Given the description of an element on the screen output the (x, y) to click on. 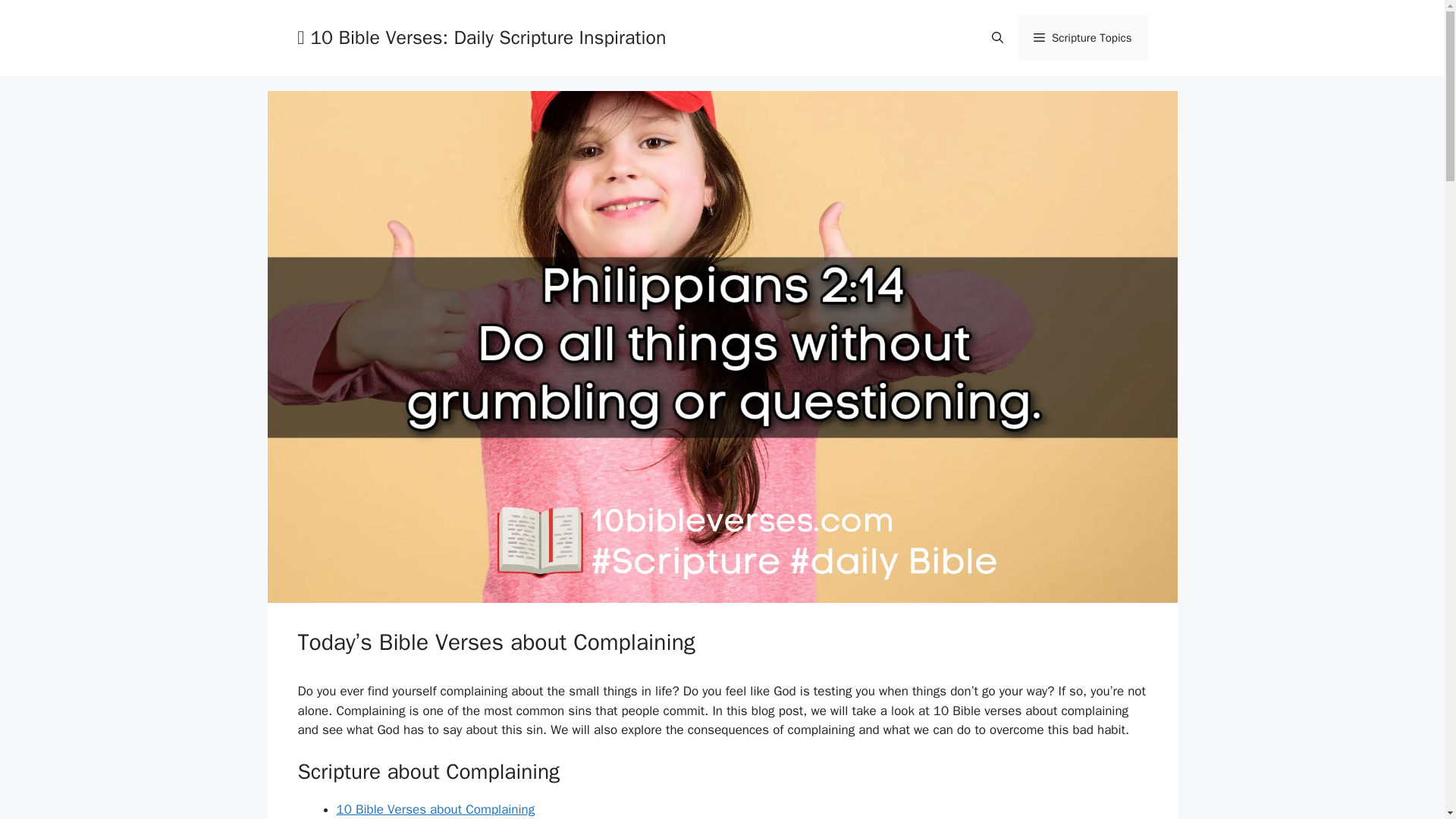
Scripture Topics (1082, 37)
10 Bible Verses about Complaining (435, 809)
